Given the description of an element on the screen output the (x, y) to click on. 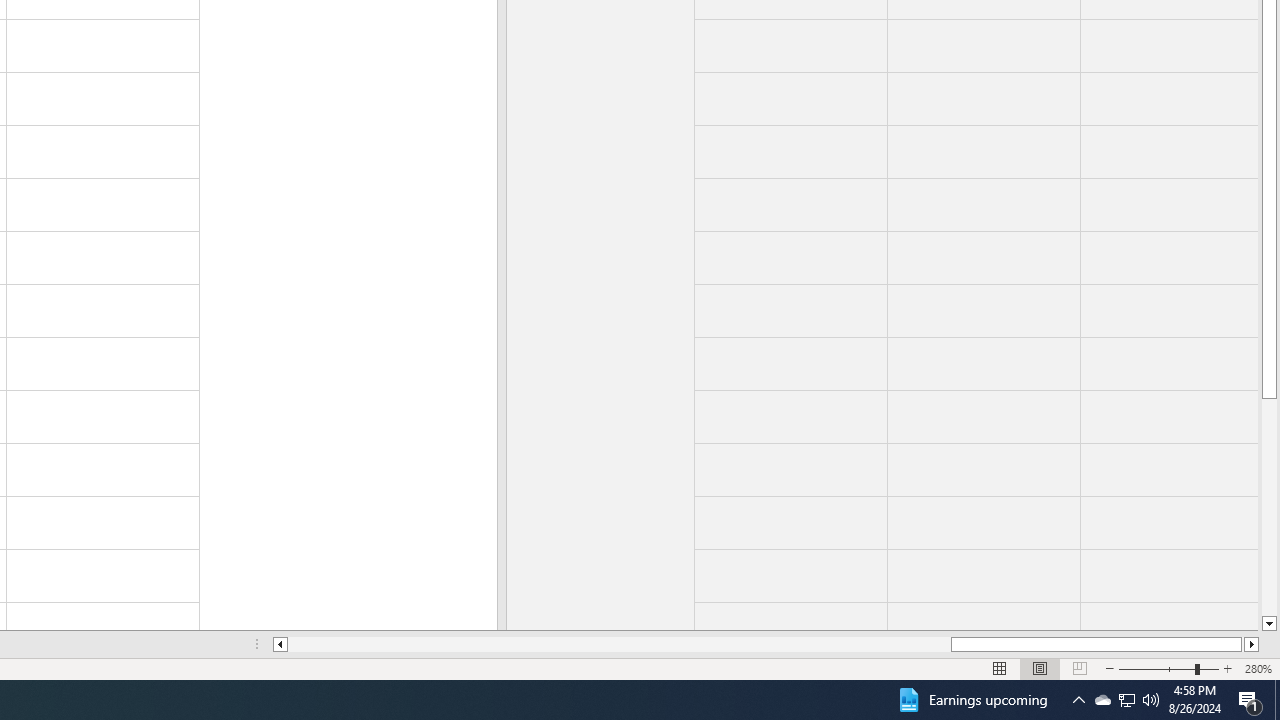
Page left (619, 644)
